Given the description of an element on the screen output the (x, y) to click on. 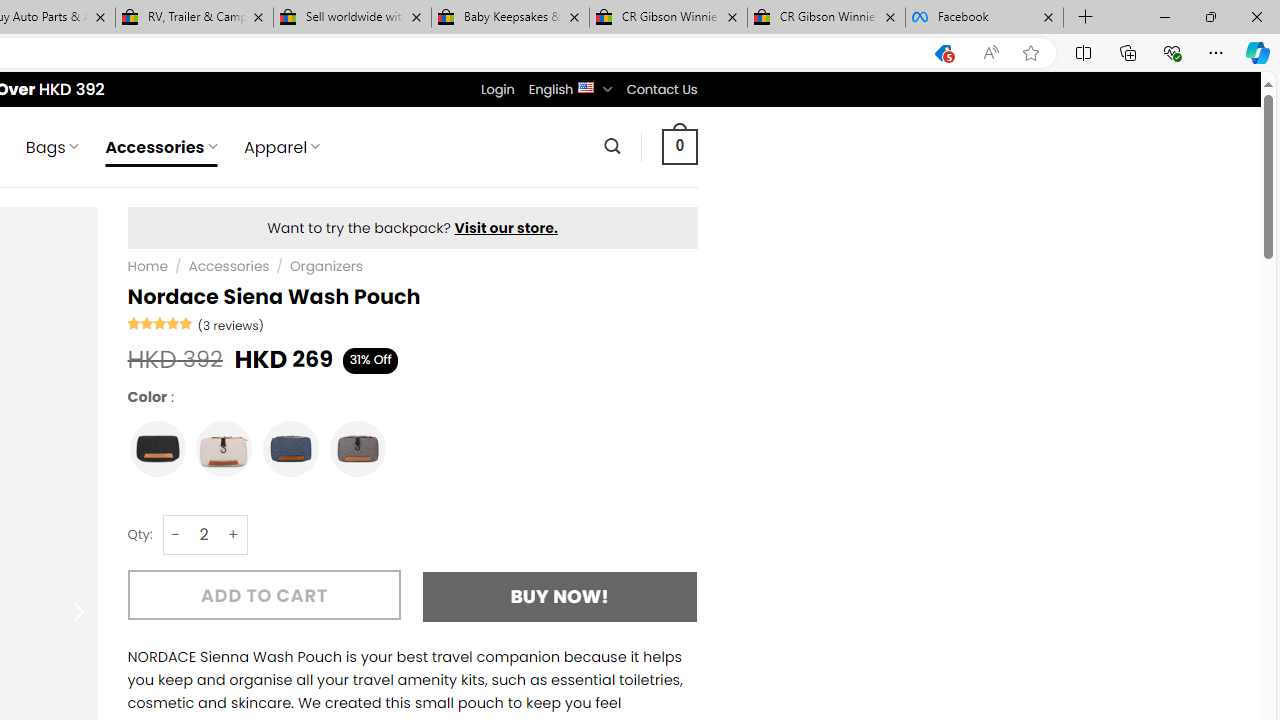
 0  (679, 146)
Minimize (1164, 16)
Close tab (1048, 16)
Add this page to favorites (Ctrl+D) (1030, 53)
Facebook (984, 17)
Nordace Siena Wash Pouch quantity (204, 534)
Close (1256, 16)
Copilot (Ctrl+Shift+.) (1258, 52)
Collections (1128, 52)
Split screen (1083, 52)
- (175, 534)
Contact Us (661, 89)
